Given the description of an element on the screen output the (x, y) to click on. 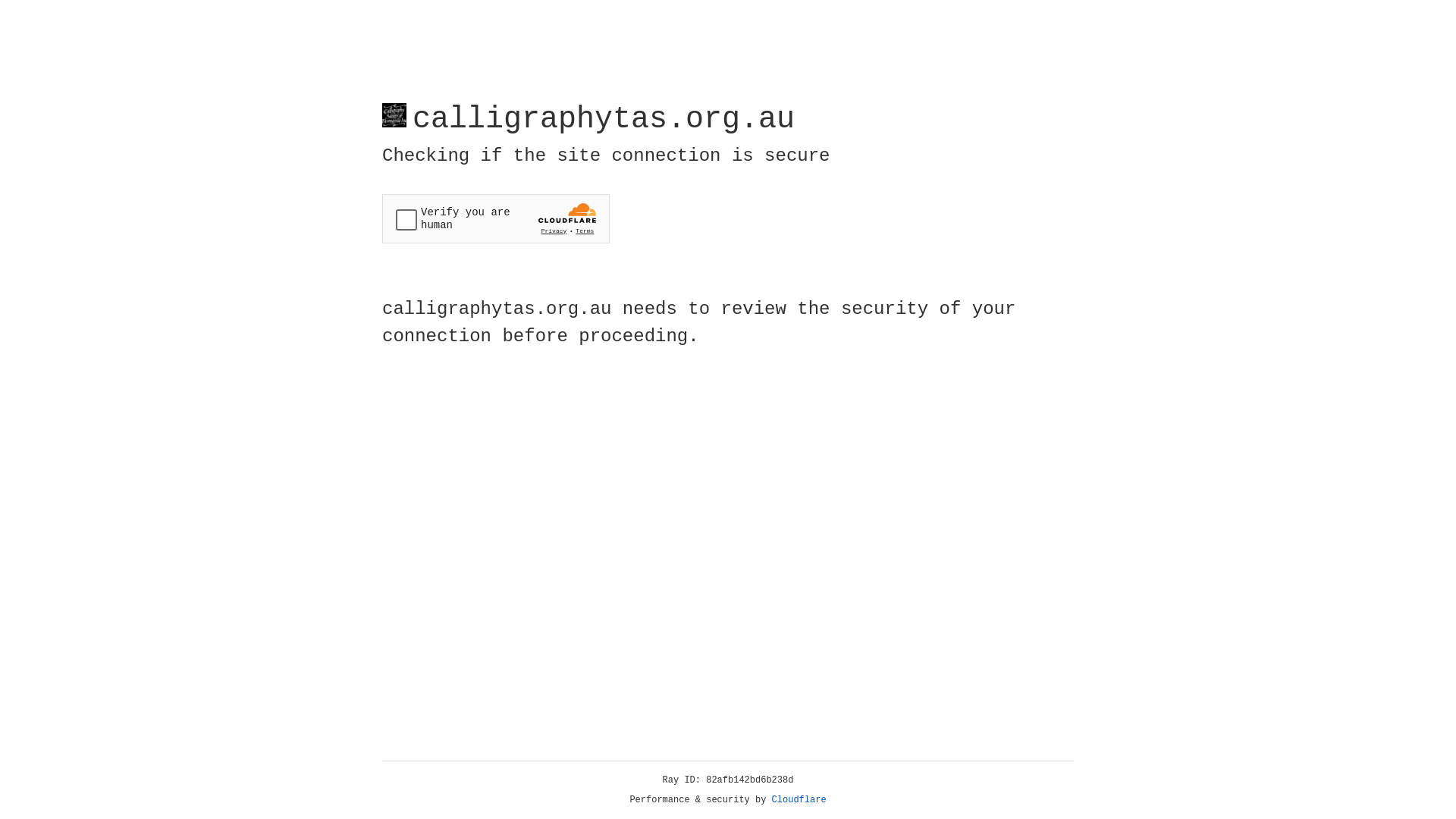
Cloudflare Element type: text (798, 799)
Widget containing a Cloudflare security challenge Element type: hover (495, 218)
